Given the description of an element on the screen output the (x, y) to click on. 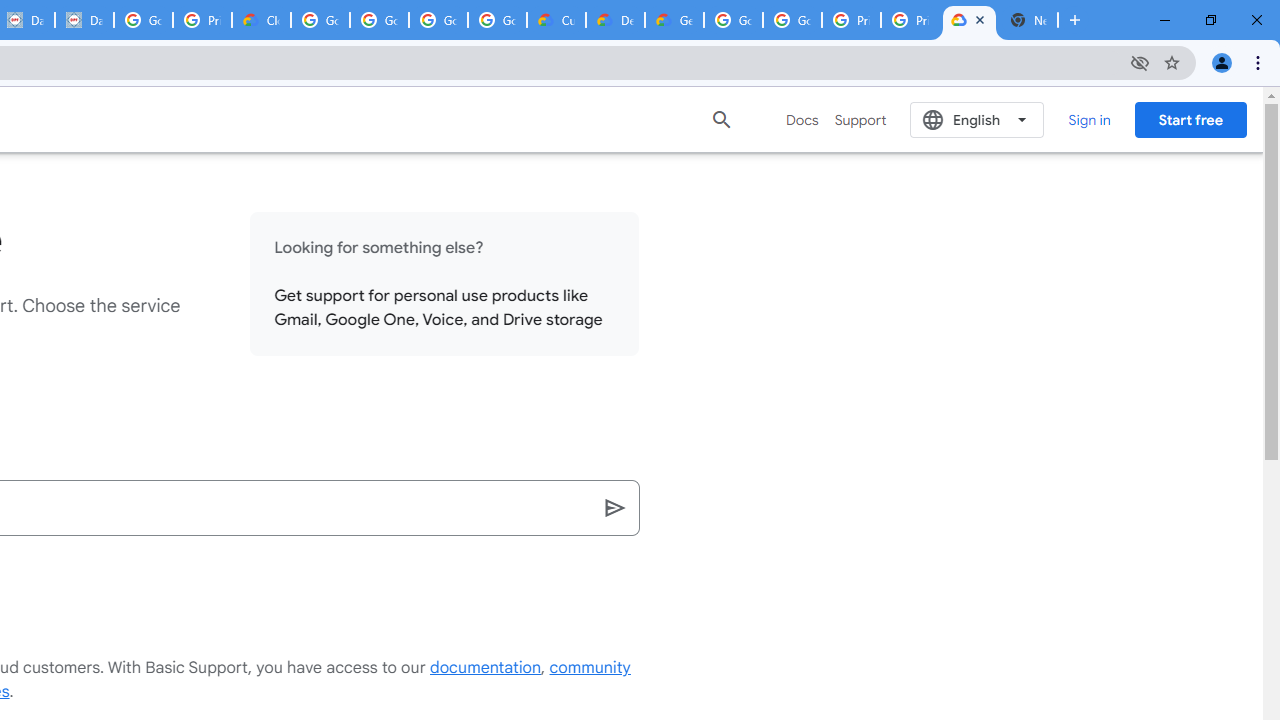
Search (615, 507)
New Tab (1028, 20)
Start free (1190, 119)
Google Workspace - Specific Terms (497, 20)
documentation (485, 668)
Support (860, 119)
